Given the description of an element on the screen output the (x, y) to click on. 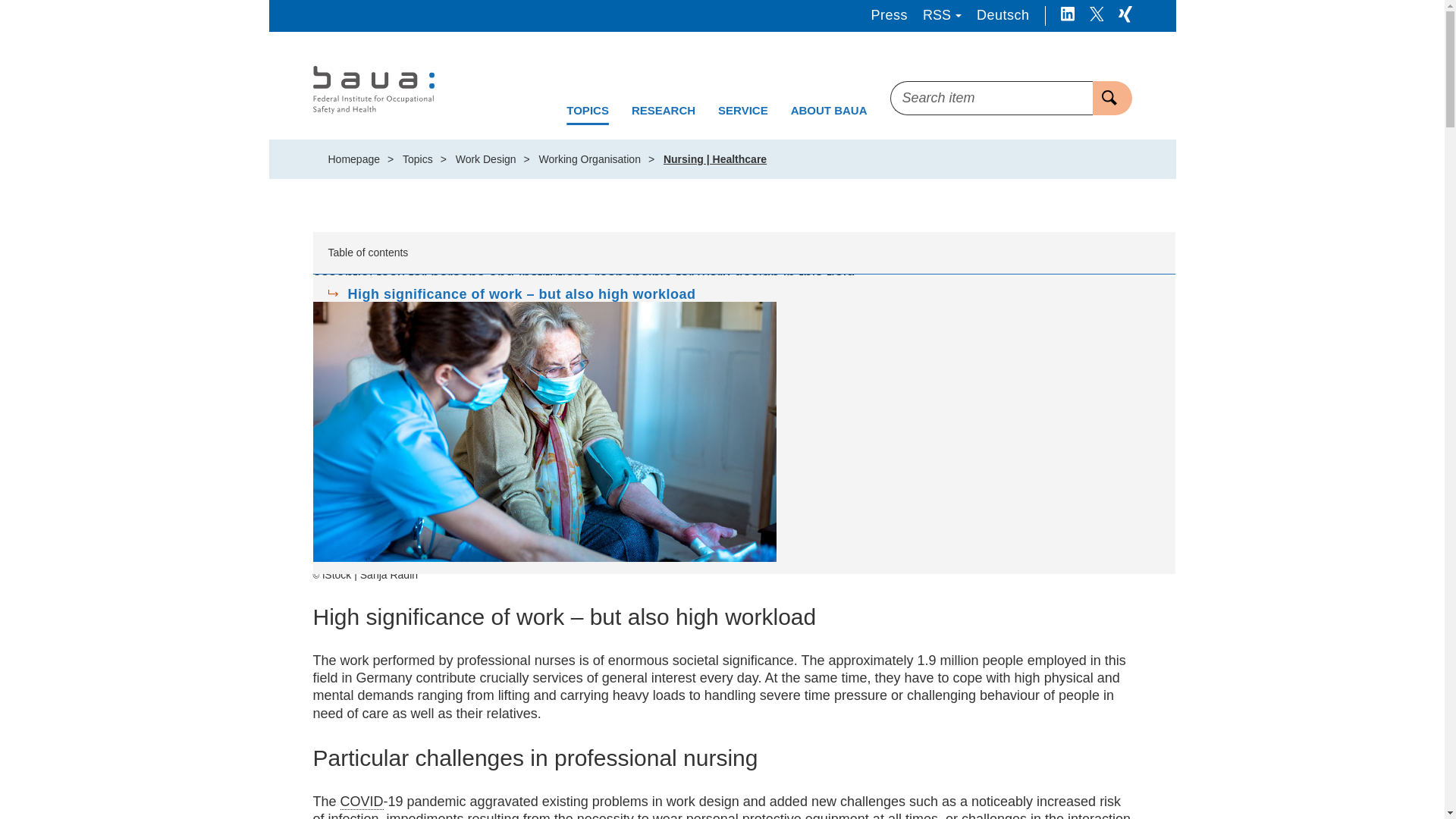
RSS (942, 15)
Zum deutschen Auftritt (1002, 15)
Press (889, 15)
Opens new window (1066, 15)
Opens new window (1123, 15)
Press (889, 15)
Opens new window (1095, 15)
Deutsch (1002, 15)
TOPICS (587, 111)
